Given the description of an element on the screen output the (x, y) to click on. 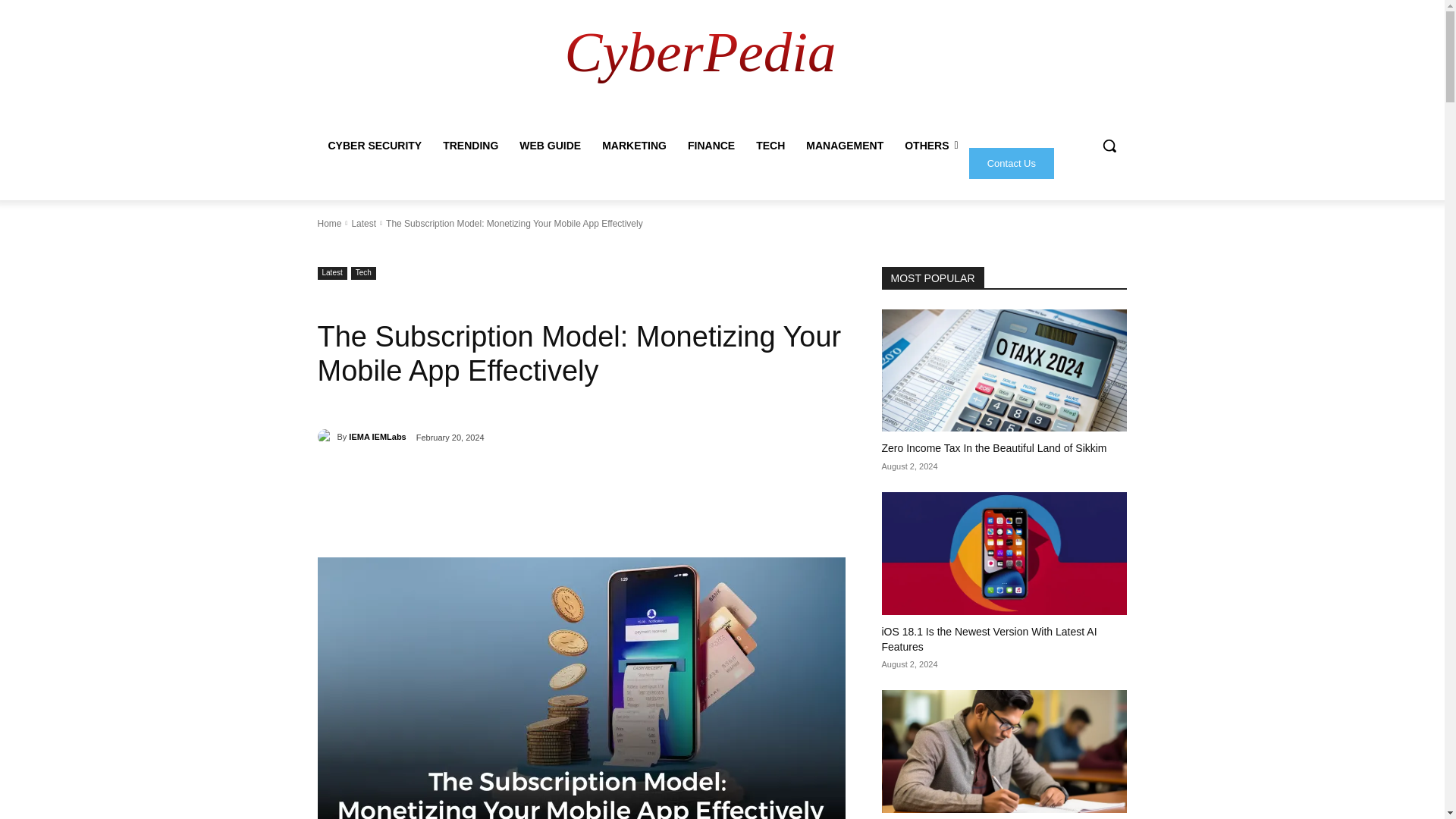
View all posts in Latest (362, 223)
